Given the description of an element on the screen output the (x, y) to click on. 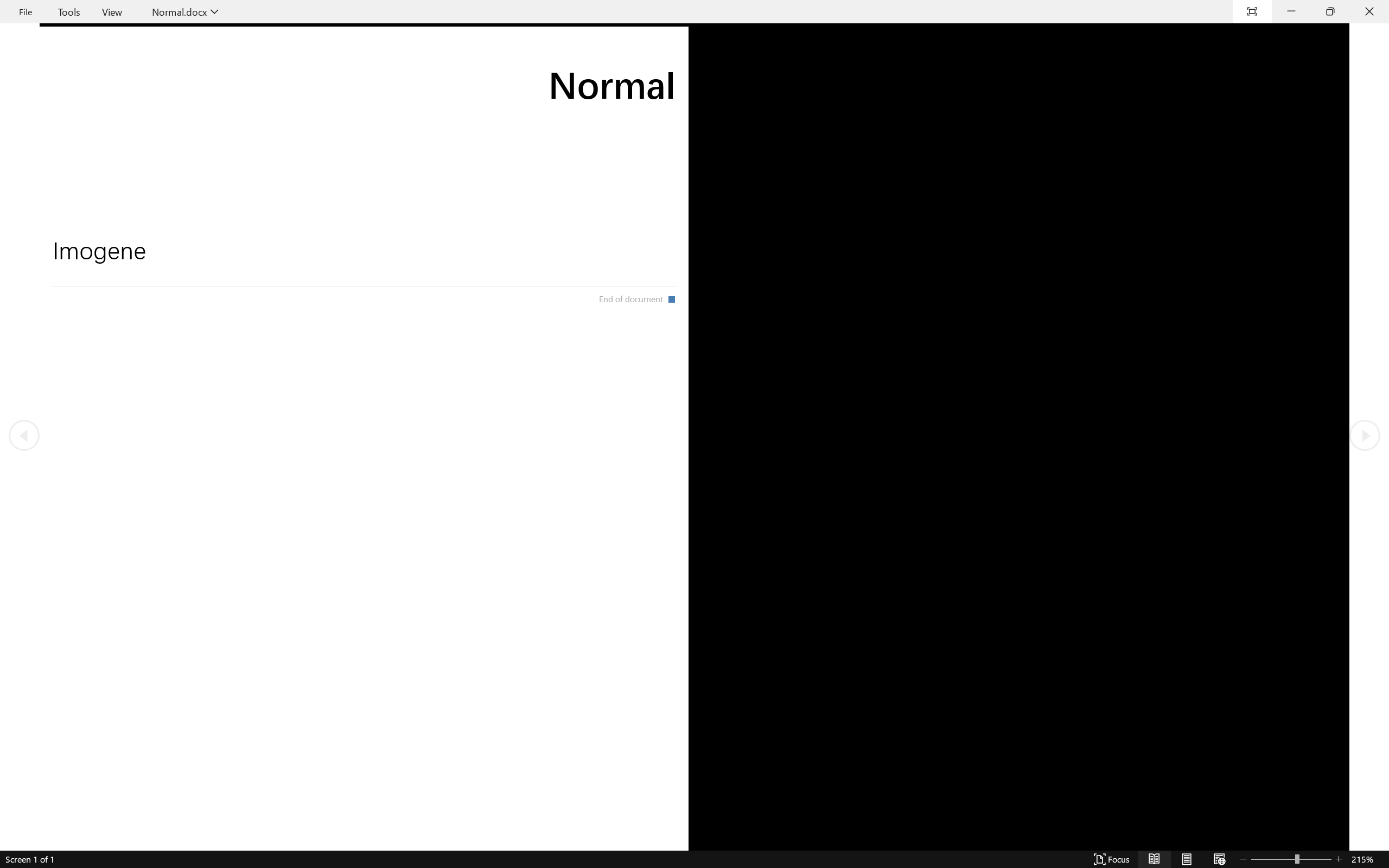
Arc (539, 72)
AutomationID: ShapesInsertGallery (549, 60)
Office Clipboard... (84, 91)
Close this message (1379, 105)
Format Object... (699, 91)
